Given the description of an element on the screen output the (x, y) to click on. 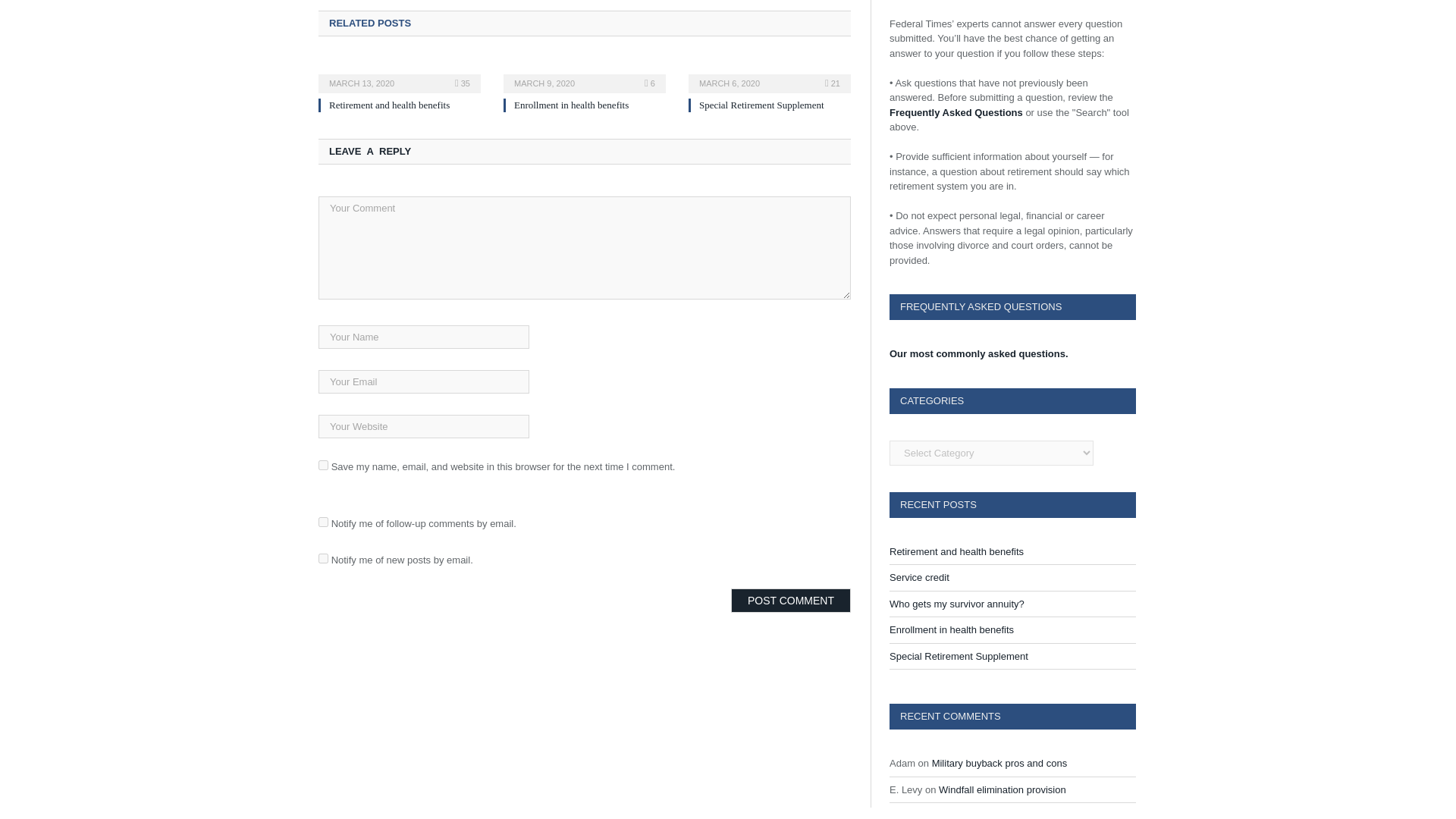
subscribe (323, 521)
Post Comment (790, 600)
subscribe (323, 558)
yes (323, 465)
